Given the description of an element on the screen output the (x, y) to click on. 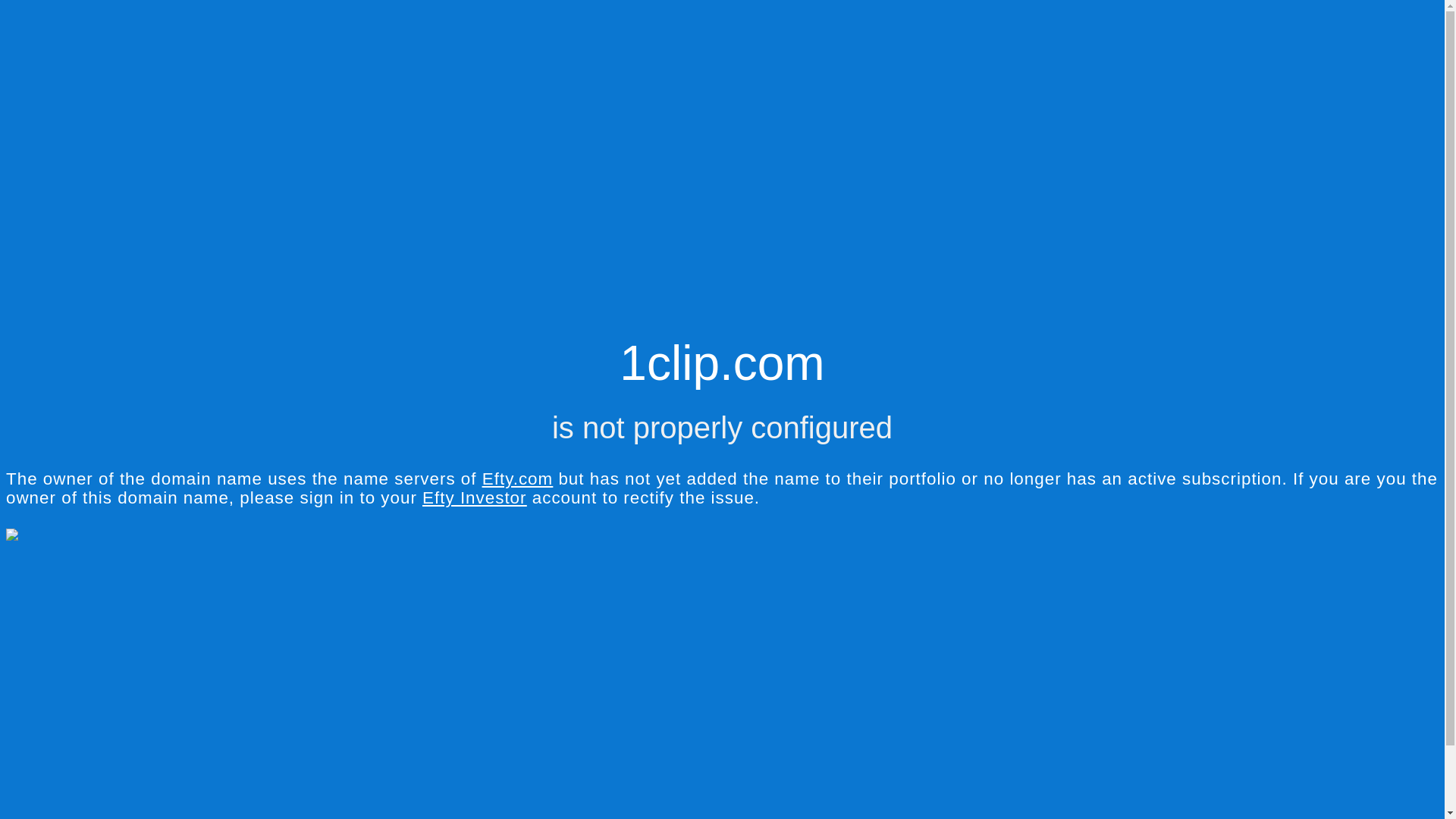
Efty.com Element type: text (517, 478)
Efty Investor Element type: text (474, 497)
